Given the description of an element on the screen output the (x, y) to click on. 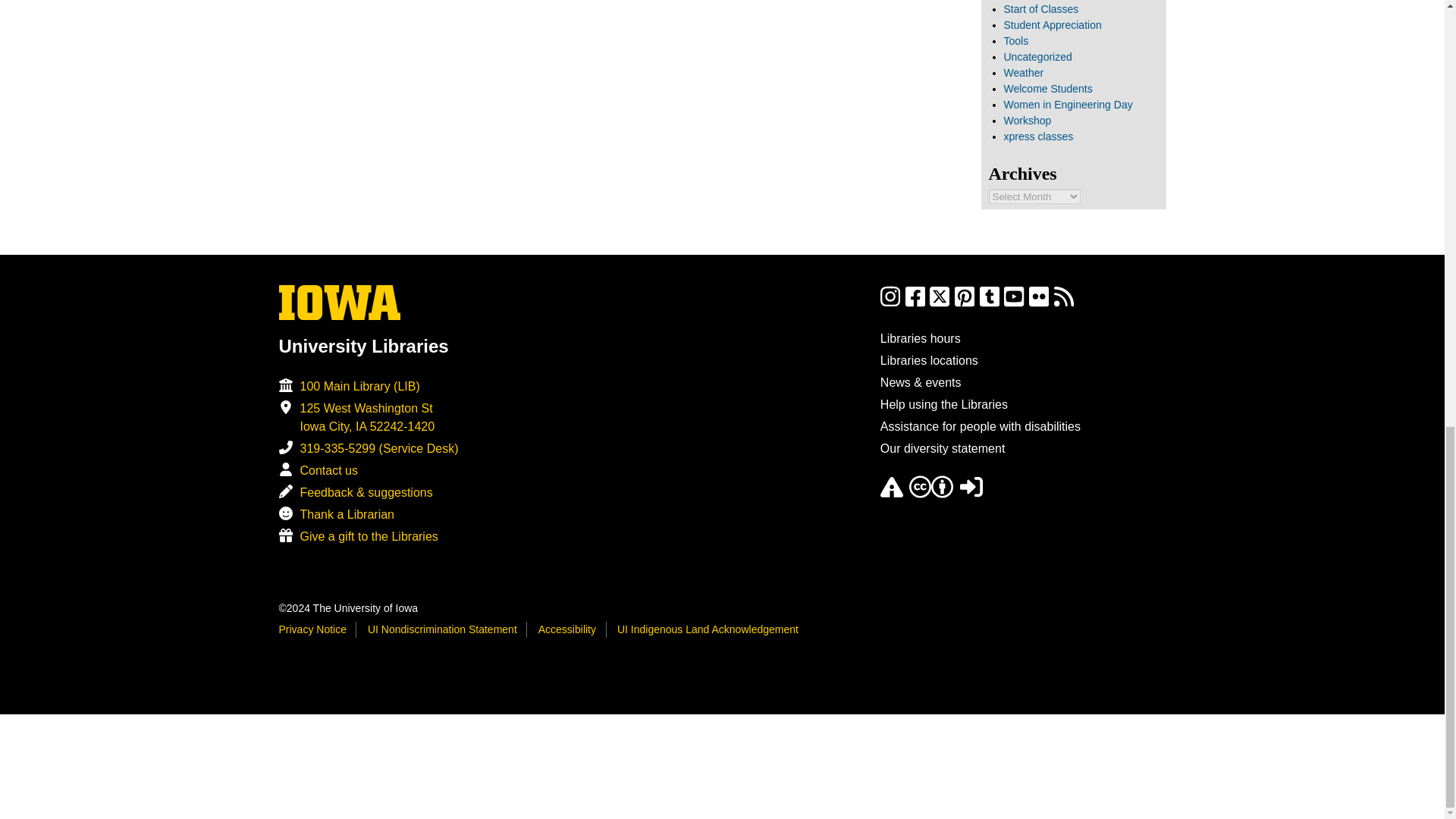
UI Libraries blogs (1064, 303)
UI Libraries on Facebook (914, 303)
UI Libraries in the Internet Archive (891, 493)
UI Libraries on Flickr (1038, 303)
UI Libraries on Tumblr (988, 303)
UI Libraries on Instagram (889, 303)
University of Iowa (339, 302)
Use and reuse of UI Libraries web content - Creative Commons (930, 493)
UI Libraries on Pinterest (964, 303)
UI Libraries on YouTube (1013, 303)
